Given the description of an element on the screen output the (x, y) to click on. 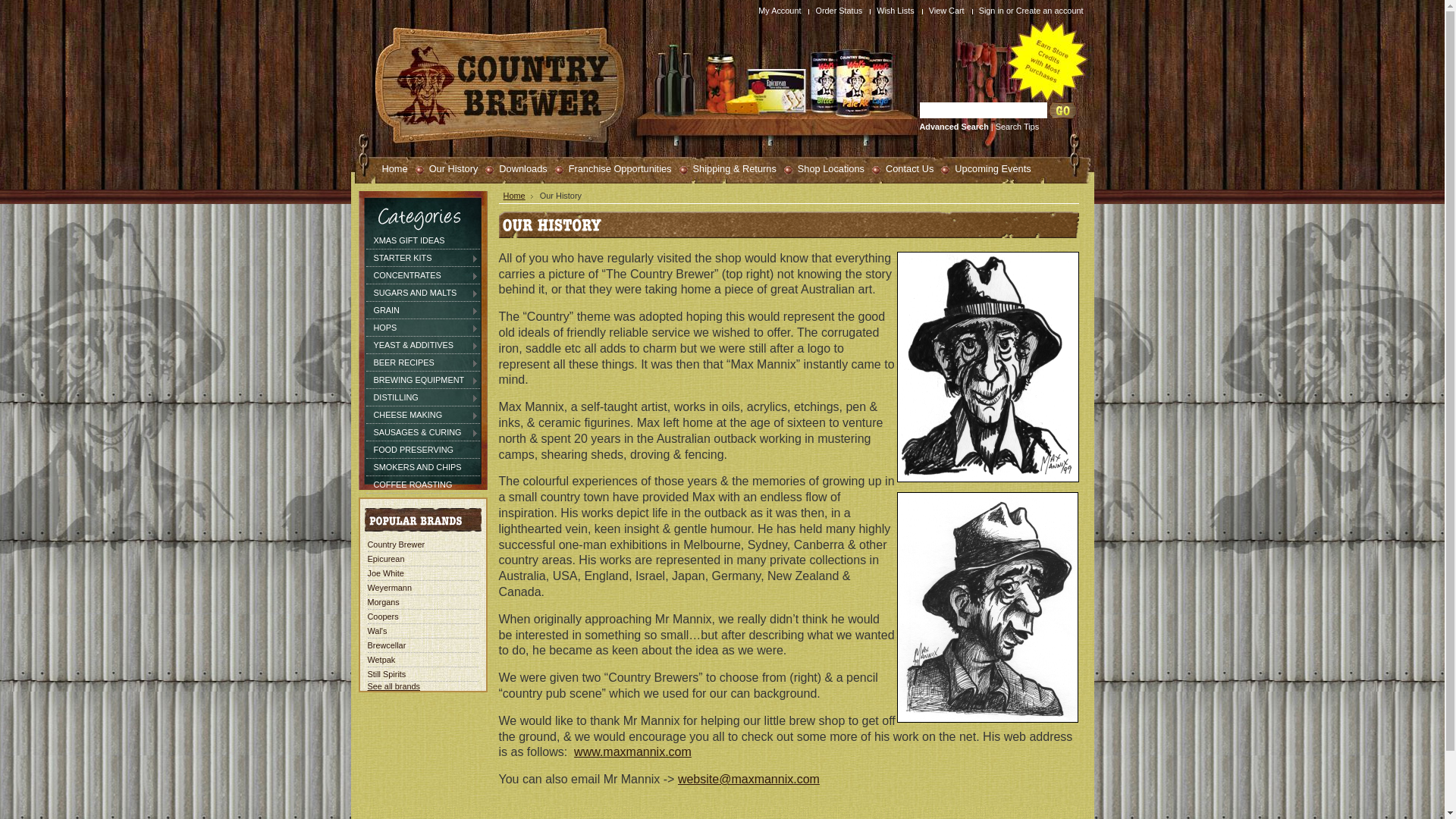
Order Status Element type: text (840, 10)
website@maxmannix.com Element type: text (748, 778)
Home Element type: text (387, 167)
Our History Element type: text (446, 167)
Wal's Element type: text (376, 630)
Brewcellar Element type: text (386, 644)
Epicurean Element type: text (385, 558)
Weyermann Element type: text (389, 587)
See all brands Element type: text (393, 685)
Advanced Search Element type: text (953, 126)
Sign in Element type: text (991, 10)
My Account Element type: text (781, 10)
XMAS GIFT IDEAS Element type: text (422, 240)
COFFEE ROASTING Element type: text (422, 484)
Shop Locations Element type: text (824, 167)
Create an account Element type: text (1049, 10)
Still Spirits Element type: text (386, 673)
Franchise Opportunities Element type: text (613, 167)
View Cart Element type: text (948, 10)
Contact Us Element type: text (902, 167)
Morgans Element type: text (382, 601)
Joe White Element type: text (385, 572)
www.maxmannix.com Element type: text (632, 751)
Coopers Element type: text (382, 616)
FOOD PRESERVING Element type: text (422, 449)
SMOKERS AND CHIPS Element type: text (422, 466)
Upcoming Events Element type: text (985, 167)
Wish Lists Element type: text (897, 10)
Shipping & Returns Element type: text (727, 167)
Wetpak Element type: text (381, 659)
Downloads Element type: text (515, 167)
Home Element type: text (518, 195)
Country Brewer Element type: text (395, 544)
page441.gif Element type: hover (987, 486)
Search Tips Element type: text (1016, 126)
